Given the description of an element on the screen output the (x, y) to click on. 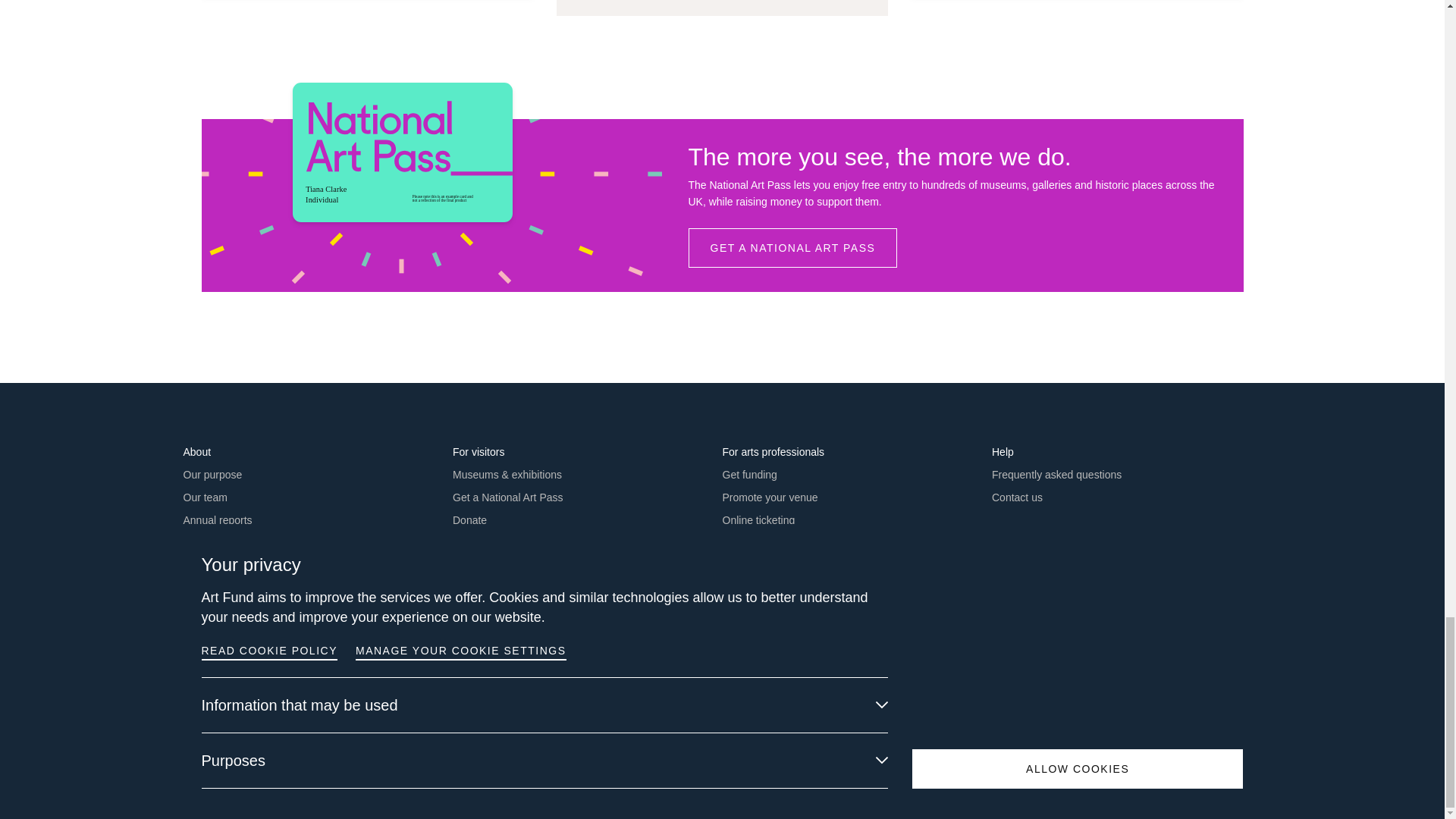
Twitter (1220, 716)
YouTube (1252, 717)
Instagram (1188, 717)
Art Fund Homepage (1205, 755)
Facebook (1157, 717)
